Given the description of an element on the screen output the (x, y) to click on. 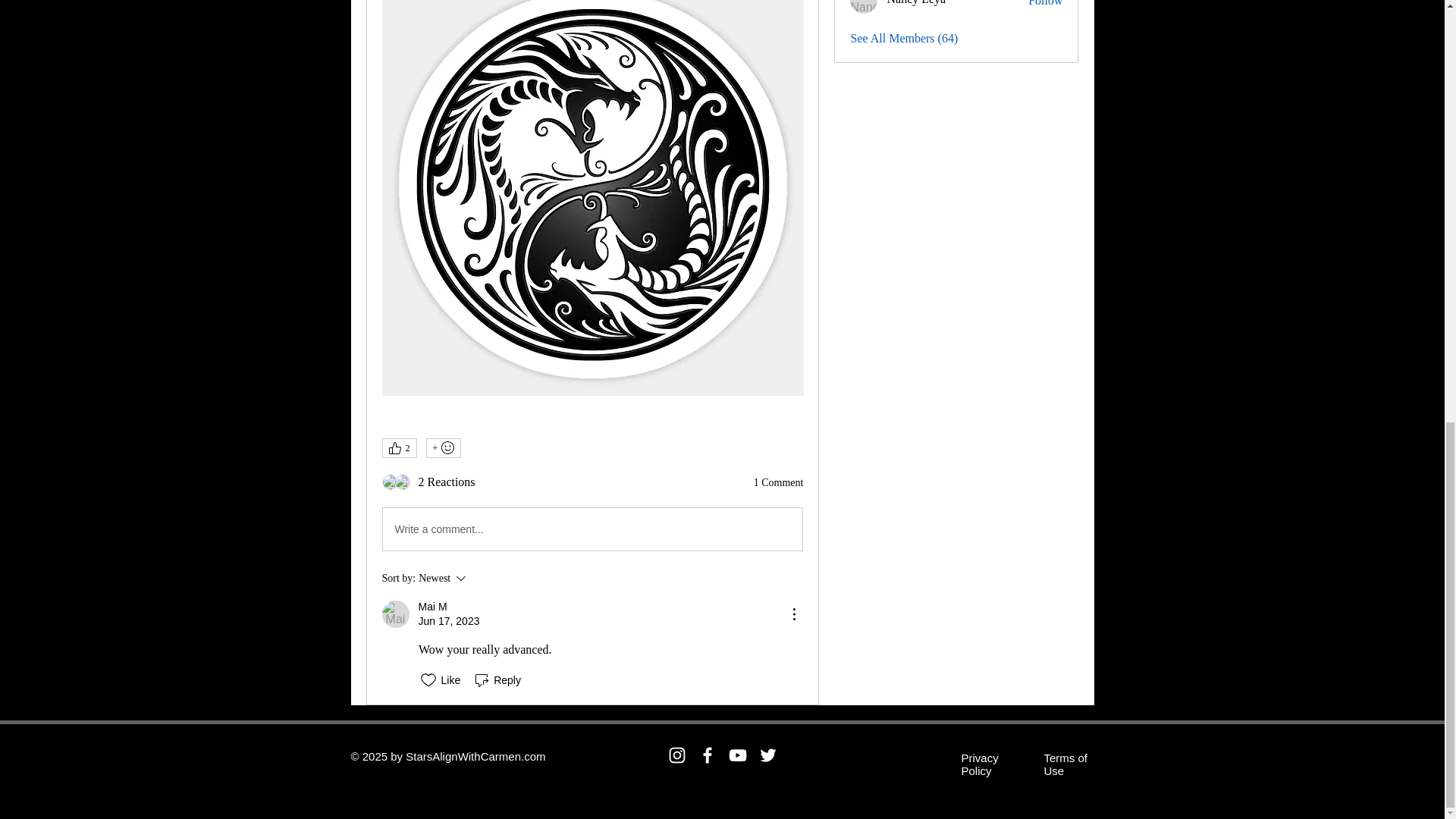
2 Reactions (447, 482)
Manena Johnson (487, 578)
Mai M (402, 482)
Mai M (432, 606)
Nancy Leya (389, 482)
Write a comment... (863, 6)
Follow (591, 528)
Mai M (1044, 4)
